Given the description of an element on the screen output the (x, y) to click on. 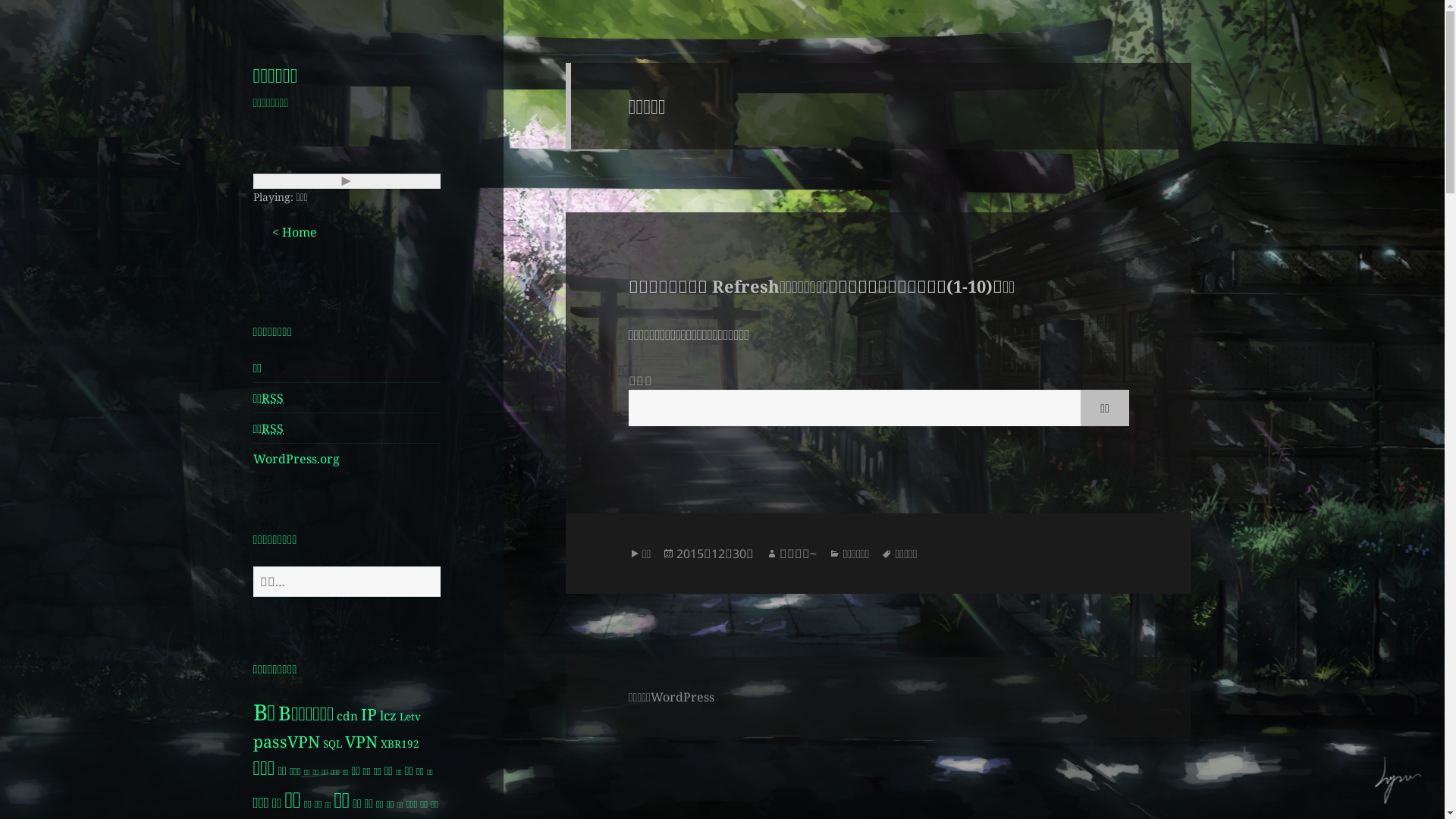
WordPress.org Element type: text (296, 458)
IP Element type: text (368, 713)
Letv Element type: text (409, 716)
< Home Element type: text (294, 231)
passVPN Element type: text (286, 741)
VPN Element type: text (361, 741)
SQL Element type: text (332, 743)
lcz Element type: text (387, 715)
cdn Element type: text (346, 715)
XBR192 Element type: text (399, 743)
